Given the description of an element on the screen output the (x, y) to click on. 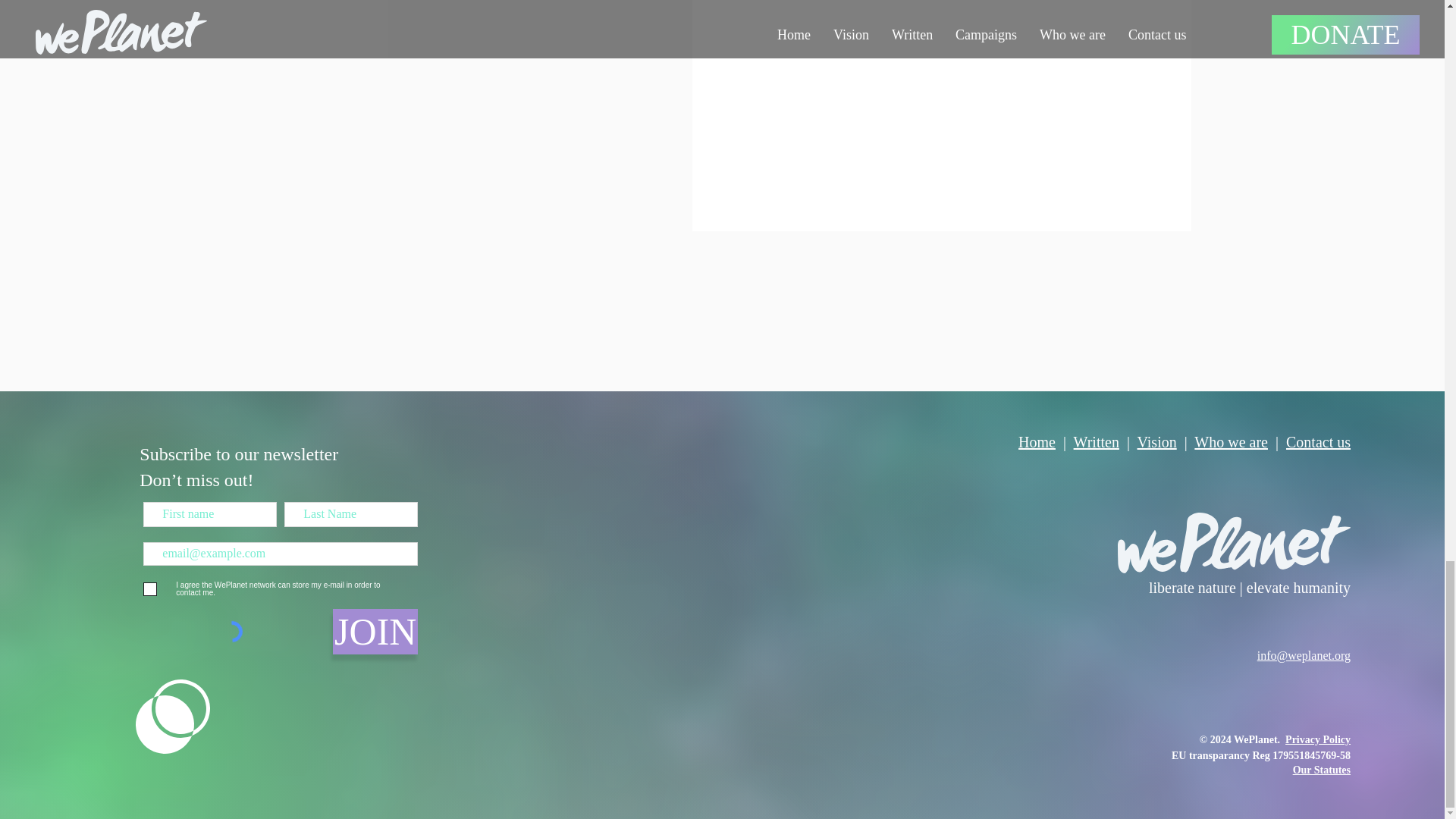
Contact us (1318, 442)
JOIN (375, 631)
Privacy Policy (1318, 739)
Written (1096, 442)
Vision (1156, 442)
Our Statutes (1321, 769)
Home (1036, 442)
Who we are (1230, 442)
